Given the description of an element on the screen output the (x, y) to click on. 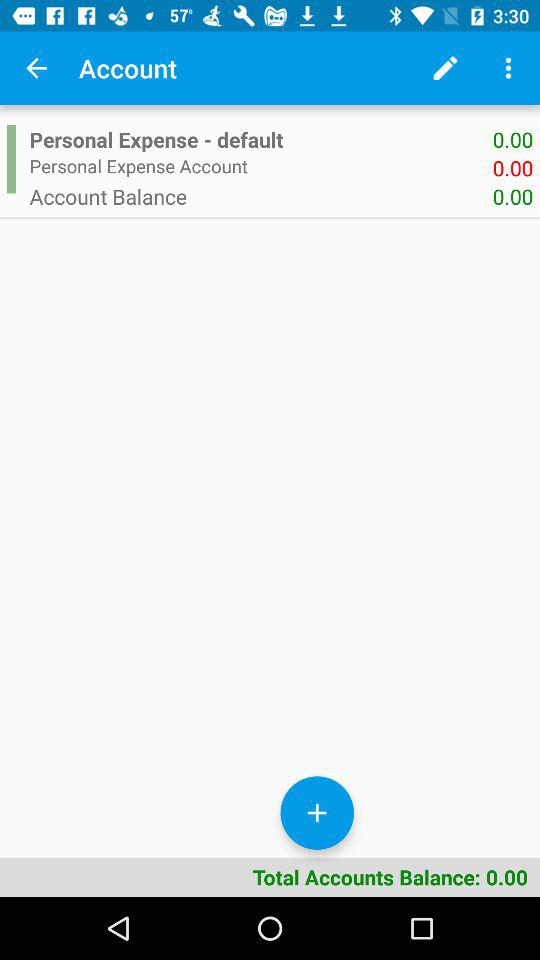
turn on the item next to account app (36, 68)
